Given the description of an element on the screen output the (x, y) to click on. 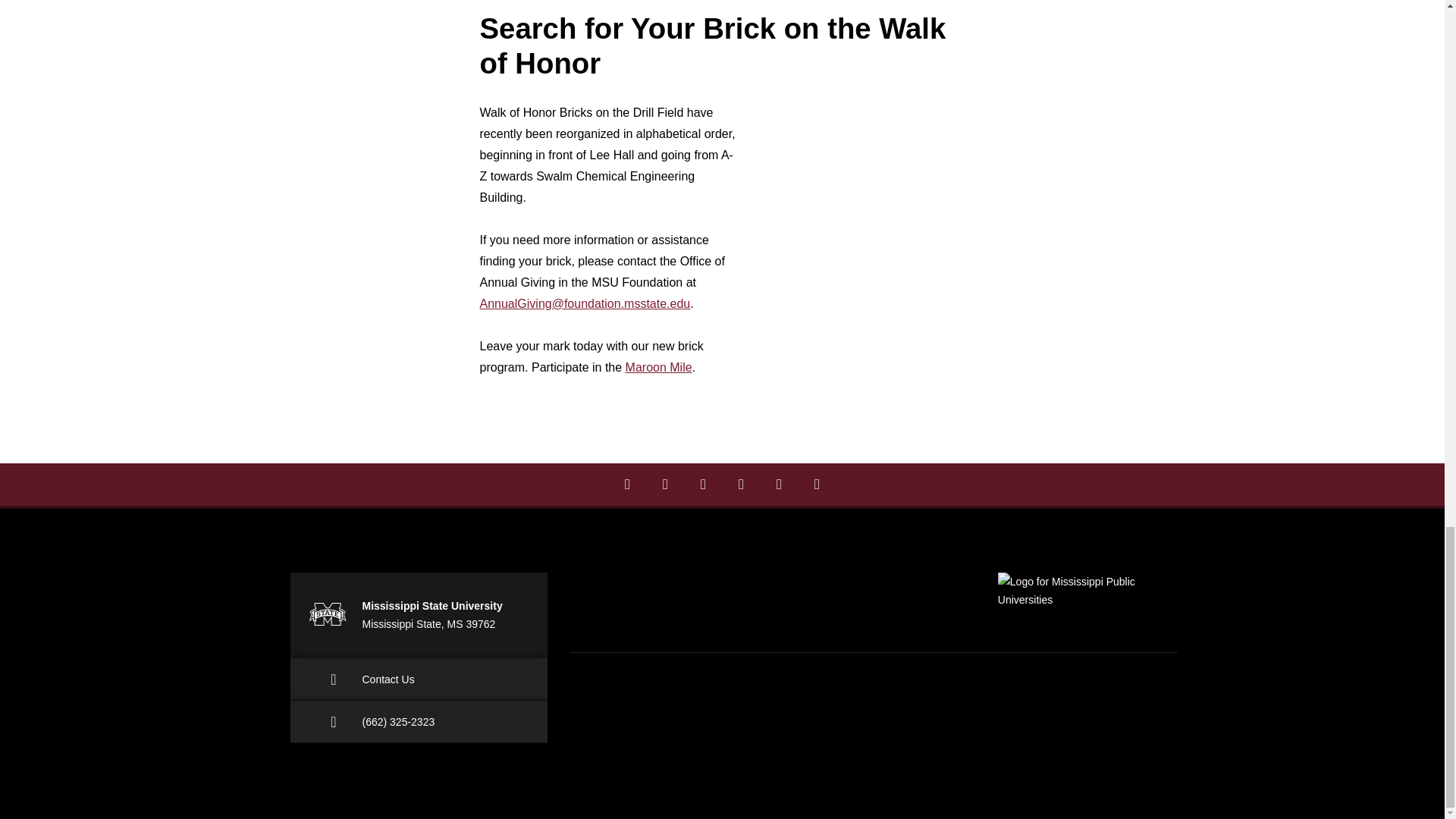
Find Mississippi State University on Pinterest (741, 484)
Find Mississippi State University on LinkedIn (703, 484)
Find Mississippi State University on Twitter (778, 484)
Find Mississippi State University on Facebook (627, 484)
Contact Us (418, 679)
Mississippi State University (326, 613)
Find Mississippi State University on YouTube (816, 484)
Find Mississippi State University on Instagram (665, 484)
